Given the description of an element on the screen output the (x, y) to click on. 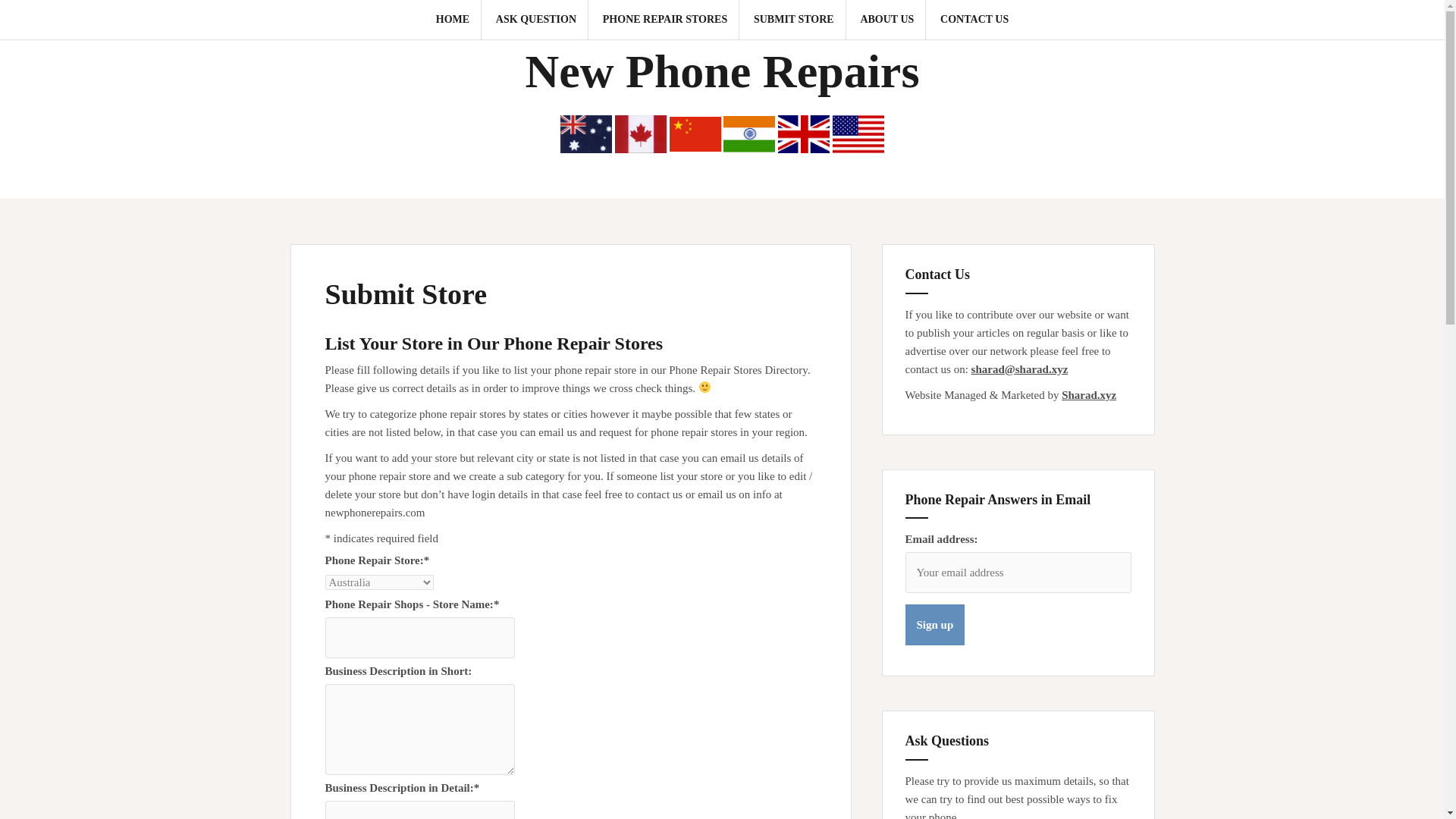
HOME (451, 19)
ABOUT US (887, 19)
Phone Repair Questions (536, 19)
Sign up (935, 624)
PHONE REPAIR STORES (664, 19)
CONTACT US (974, 19)
Submit Phone Stores (794, 19)
Sharad.xyz (1088, 395)
ASK QUESTION (536, 19)
Phone Repair Stores Directory (664, 19)
